Given the description of an element on the screen output the (x, y) to click on. 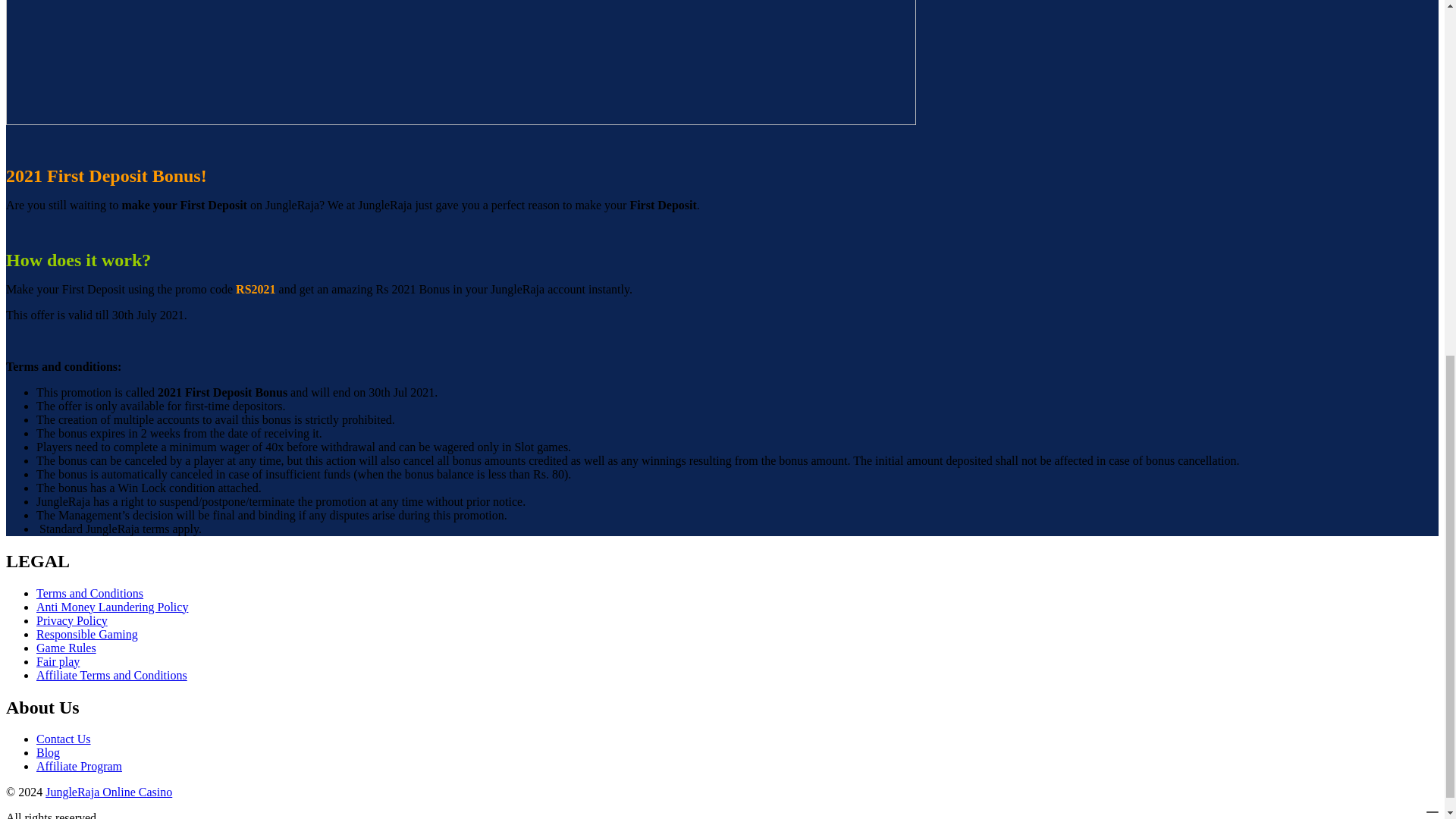
Affiliate Terms and Conditions (111, 675)
Terms and Conditions (89, 593)
Game Rules (66, 647)
Responsible Gaming (87, 634)
Contact Us (63, 738)
JungleRaja Online Casino (108, 791)
Blog (47, 752)
Privacy Policy (71, 620)
Fair play (58, 661)
Affiliate Program (79, 766)
